Given the description of an element on the screen output the (x, y) to click on. 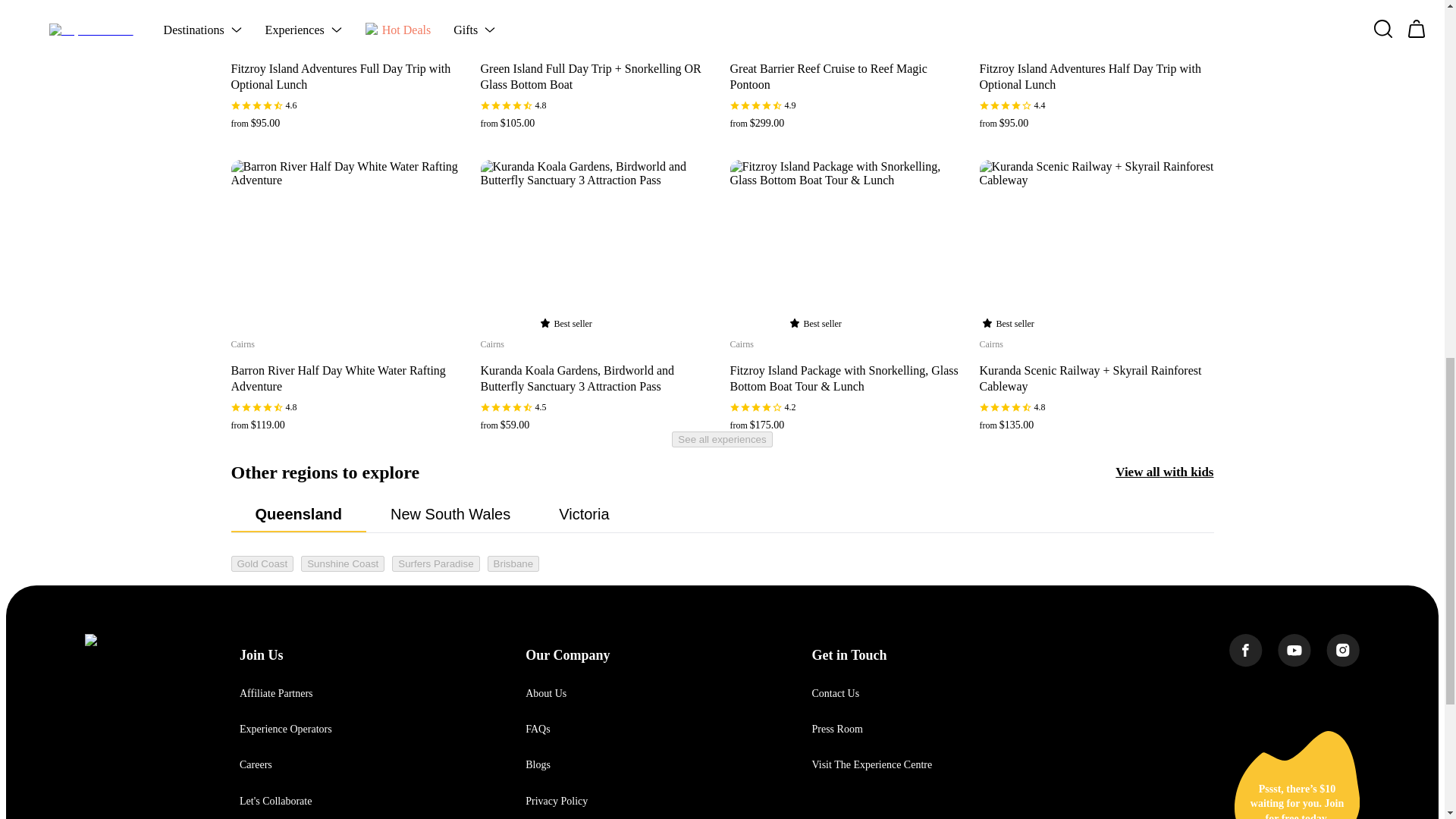
FAQs (537, 728)
Let's Collaborate (275, 800)
New South Wales (450, 514)
See more destinations (283, 600)
View all with kids (1163, 472)
Careers (256, 764)
About Us (545, 693)
Blogs (537, 764)
Experience Operators (285, 728)
Brisbane (513, 563)
Sunshine Coast (342, 563)
Surfers Paradise (435, 563)
Queensland (297, 514)
Privacy Policy (556, 800)
Affiliate Partners (276, 693)
